Given the description of an element on the screen output the (x, y) to click on. 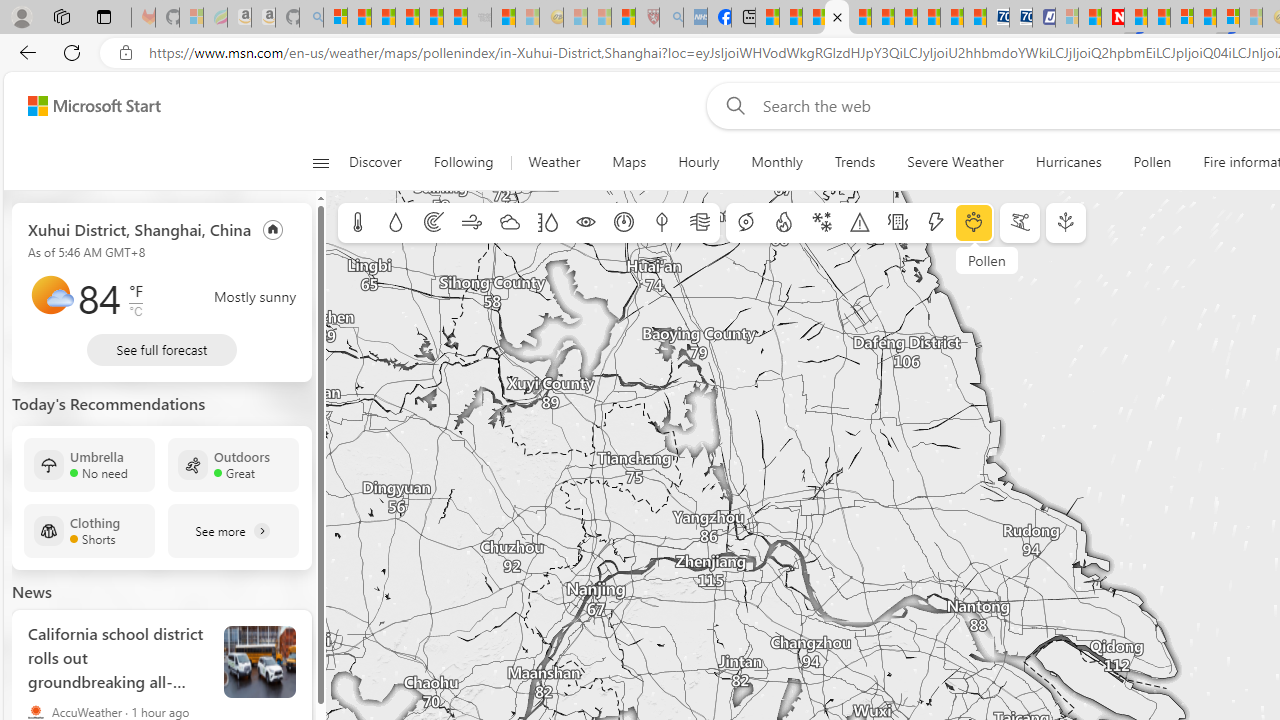
Precipitation (395, 223)
Sea level pressure (623, 223)
Outdoors Great (233, 464)
Severe Weather (955, 162)
14 Common Myths Debunked By Scientific Facts (1158, 17)
The Weather Channel - MSN (383, 17)
See full forecast (161, 349)
